Given the description of an element on the screen output the (x, y) to click on. 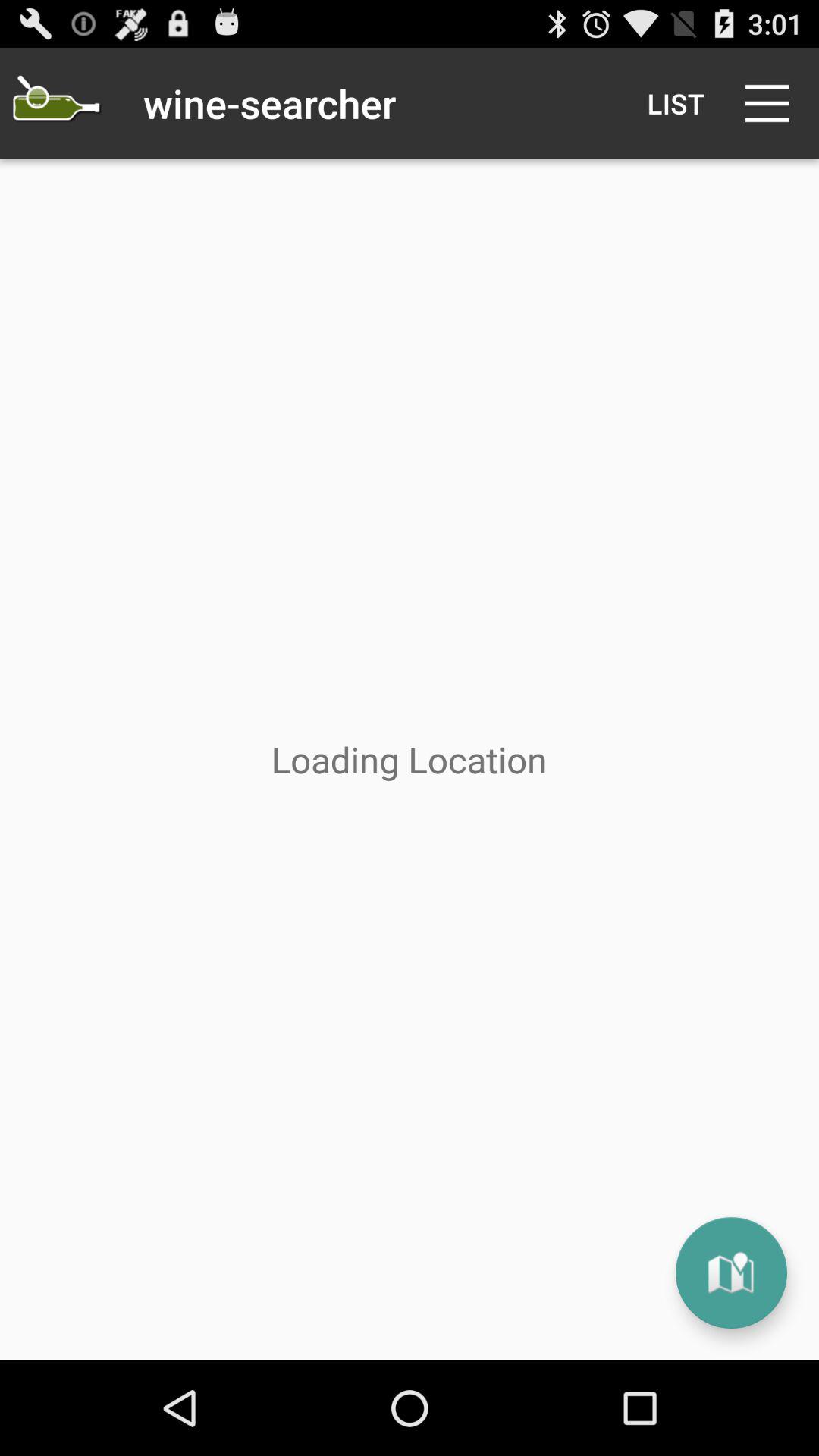
turn on icon next to the wine-searcher item (675, 103)
